Given the description of an element on the screen output the (x, y) to click on. 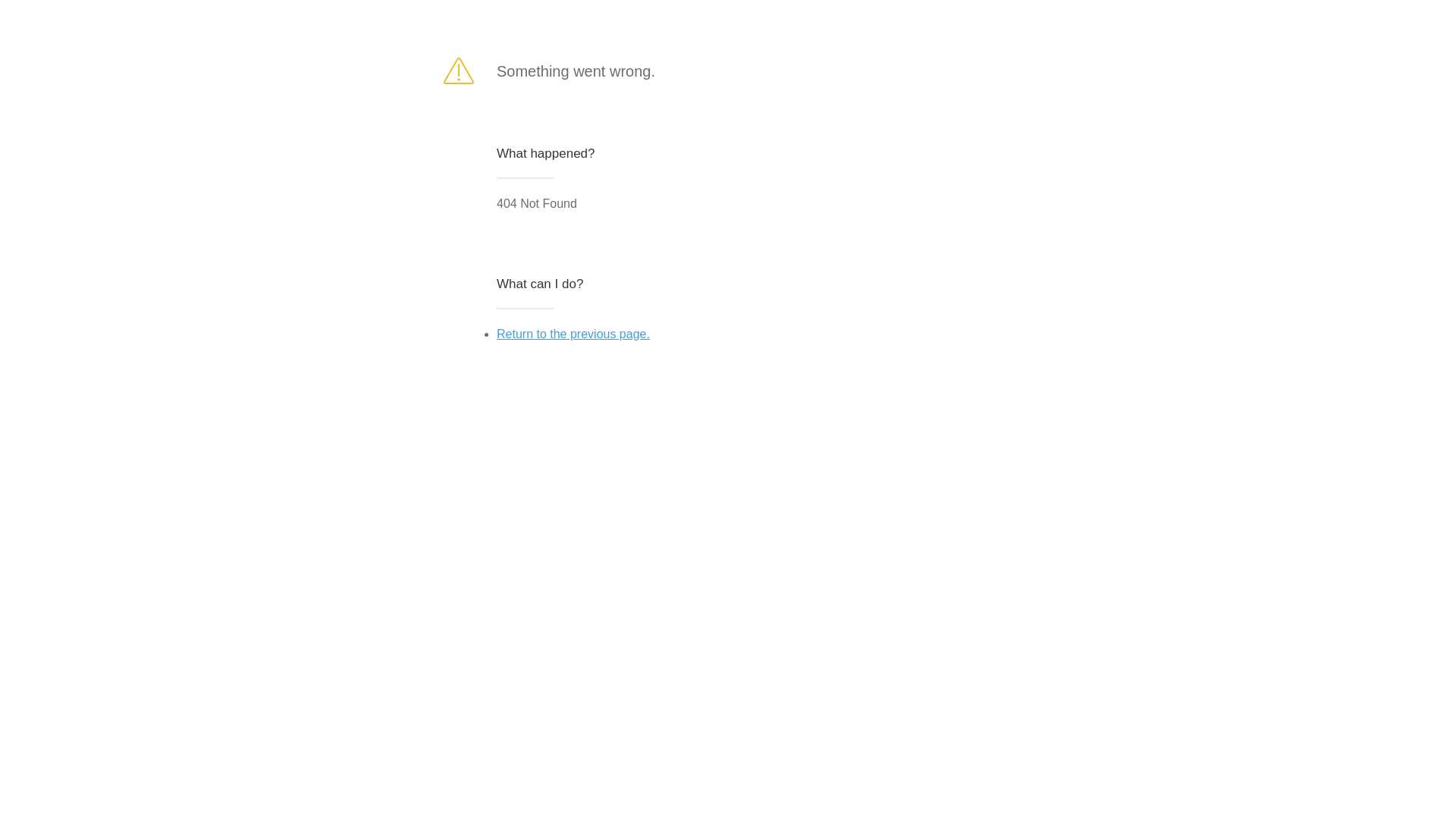
Return to the previous page. Element type: text (572, 333)
